Given the description of an element on the screen output the (x, y) to click on. 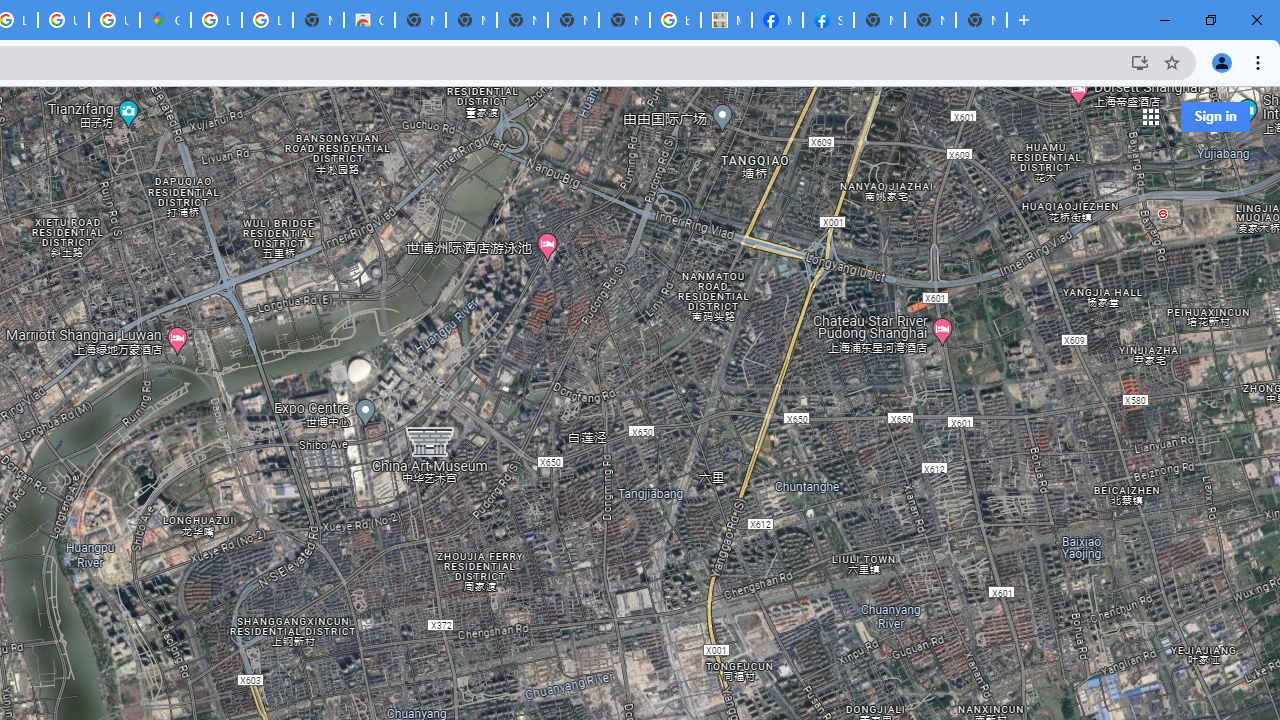
Miley Cyrus | Facebook (776, 20)
New Tab (981, 20)
Chrome Web Store (369, 20)
Install Google Maps (1139, 62)
New Tab (878, 20)
Sign Up for Facebook (827, 20)
MILEY CYRUS. (726, 20)
